Given the description of an element on the screen output the (x, y) to click on. 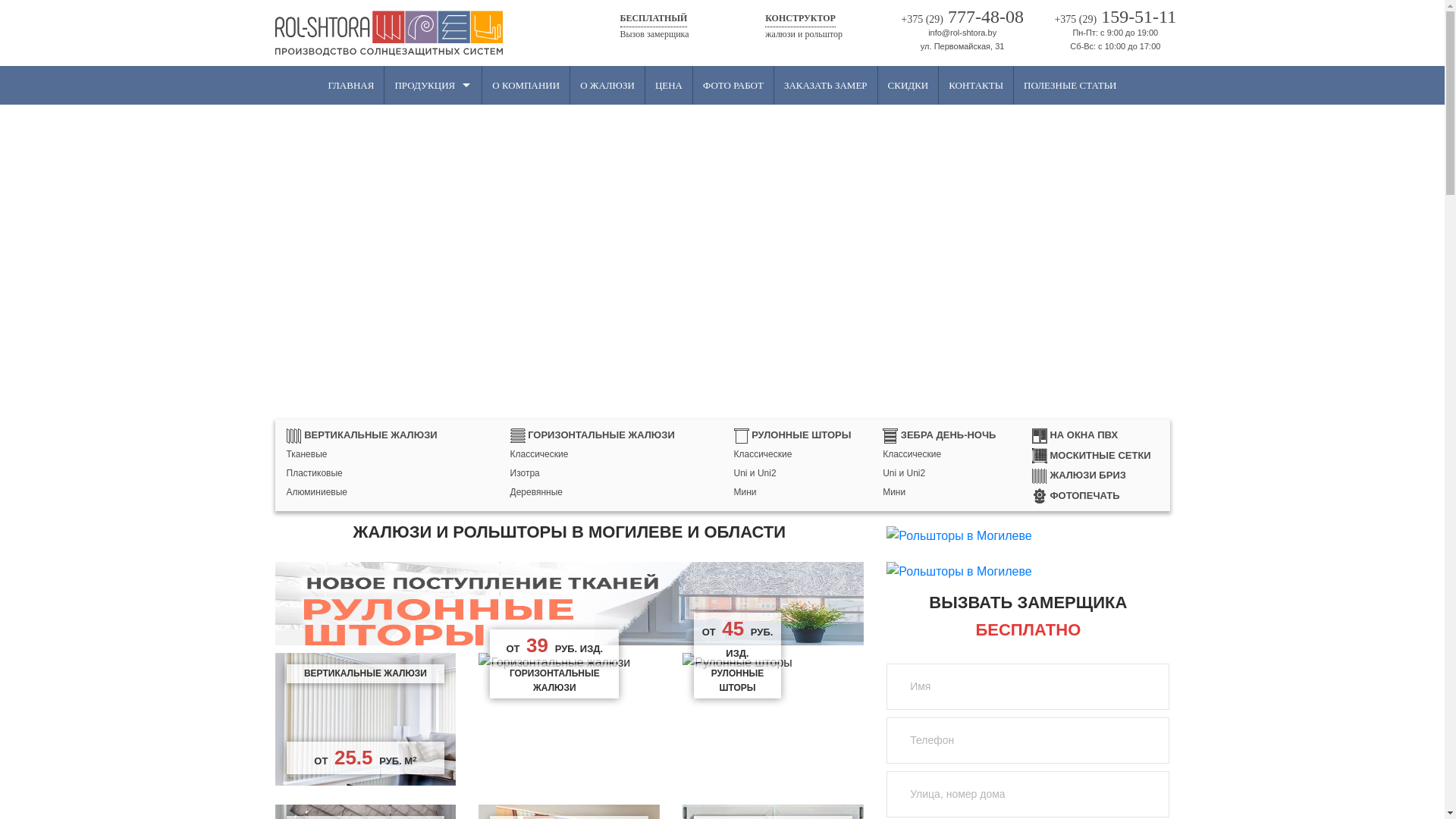
+375 (29) 777-48-08 Element type: text (962, 16)
+375 (29) 159-51-11 Element type: text (1115, 16)
info@rol-shtora.by Element type: text (962, 32)
